Given the description of an element on the screen output the (x, y) to click on. 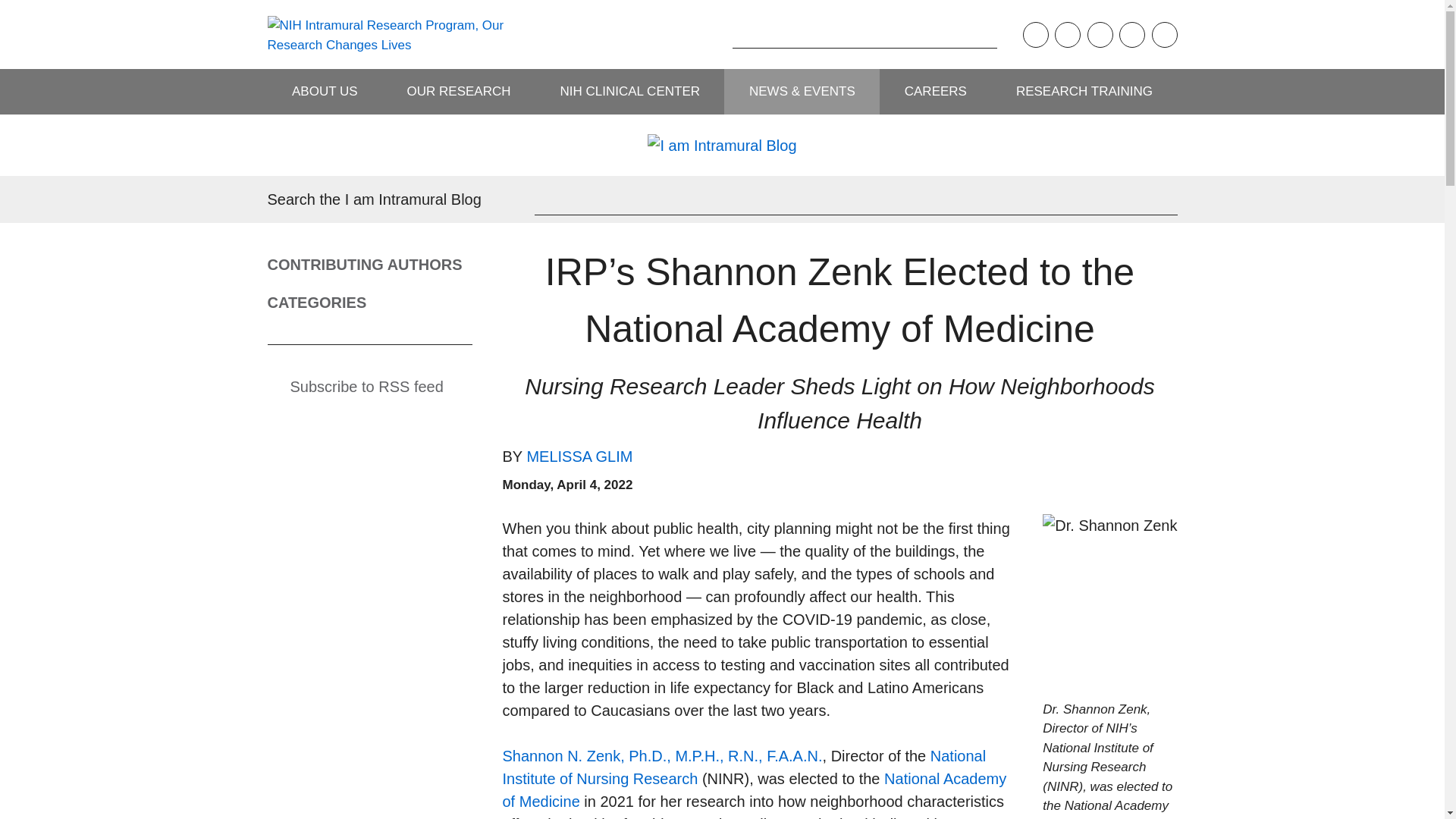
Podcast (1035, 34)
ABOUT US (323, 91)
LinkedIn (1163, 34)
SEARCH (707, 34)
Twitter (1100, 34)
Skip to main content (11, 11)
YouTube (1131, 34)
Instagram (1067, 34)
